Given the description of an element on the screen output the (x, y) to click on. 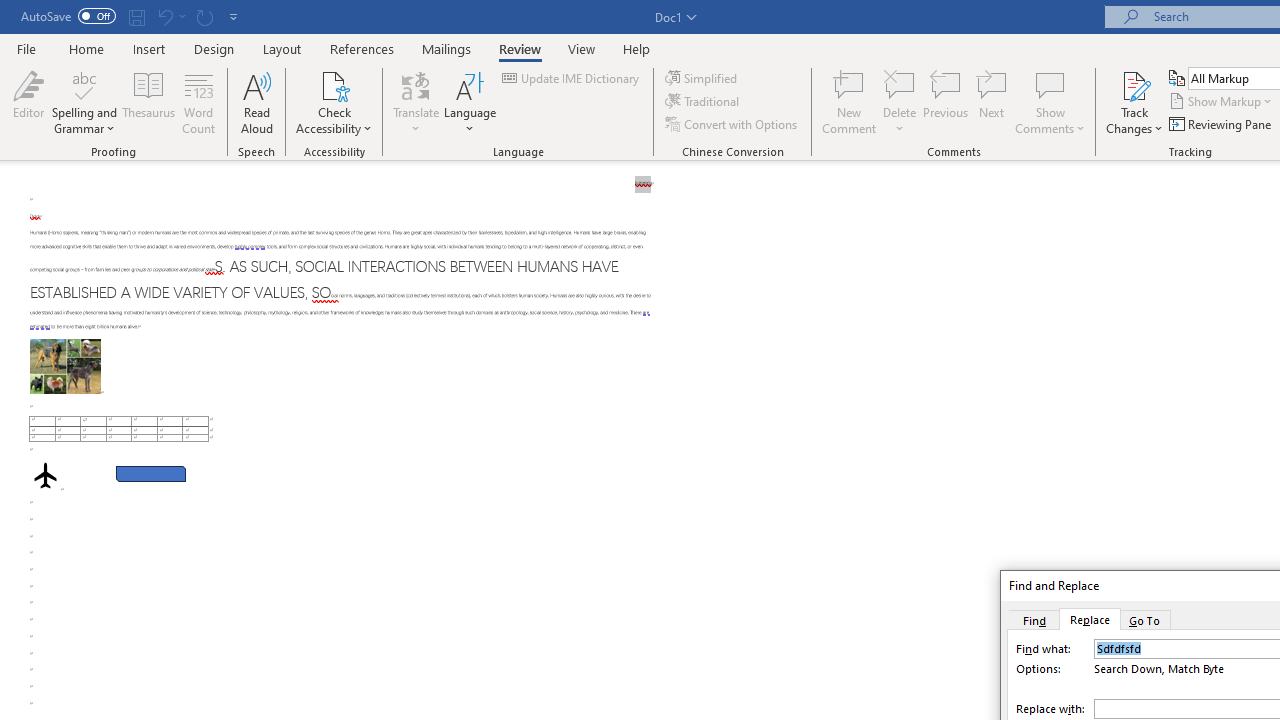
New Comment (849, 102)
Simplified (702, 78)
Delete (900, 84)
Undo Paragraph Alignment (164, 15)
Word Count (198, 102)
